Given the description of an element on the screen output the (x, y) to click on. 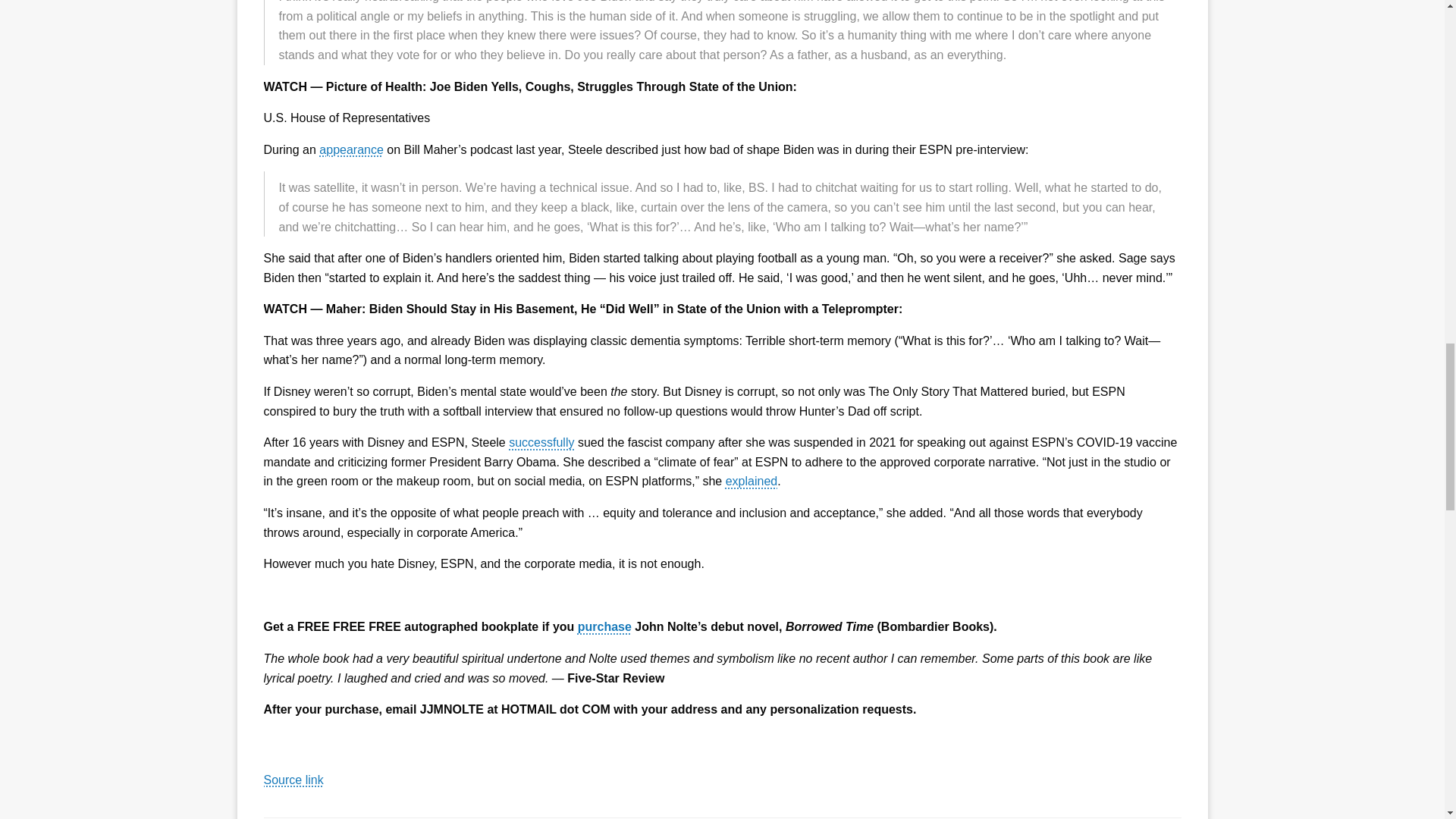
successfully (540, 441)
explained (751, 481)
Source link (293, 779)
purchase (604, 626)
appearance (351, 149)
